Given the description of an element on the screen output the (x, y) to click on. 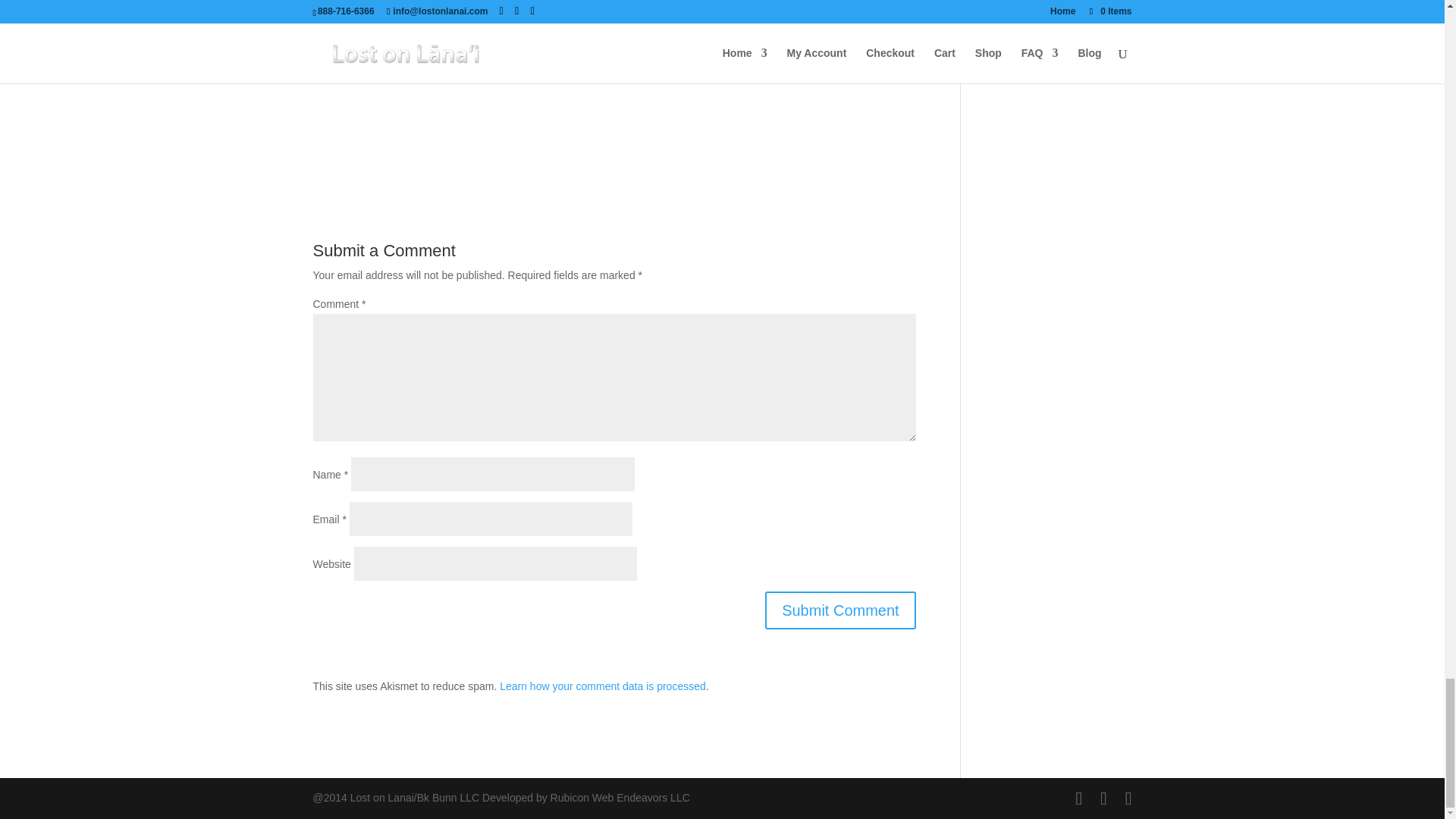
Submit Comment (840, 610)
